Given the description of an element on the screen output the (x, y) to click on. 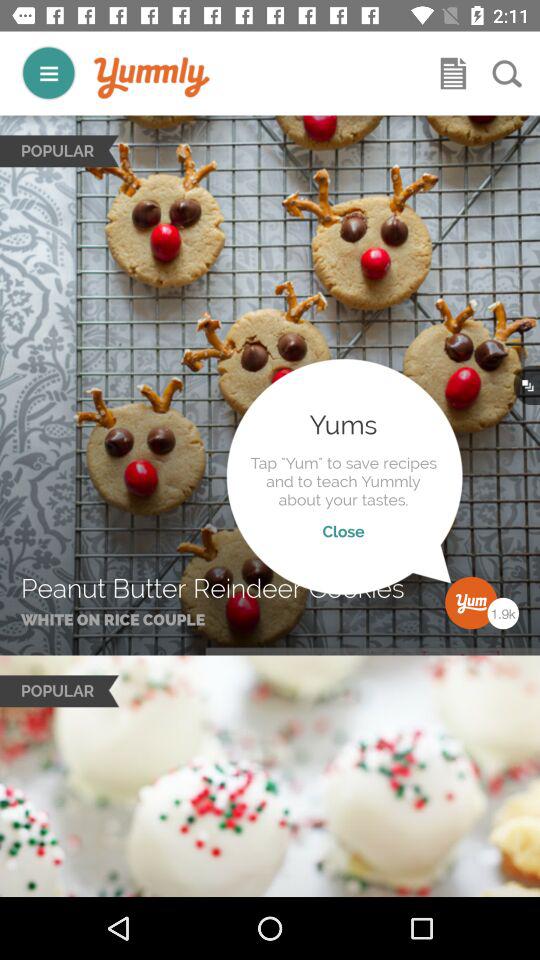
open list (453, 73)
